Given the description of an element on the screen output the (x, y) to click on. 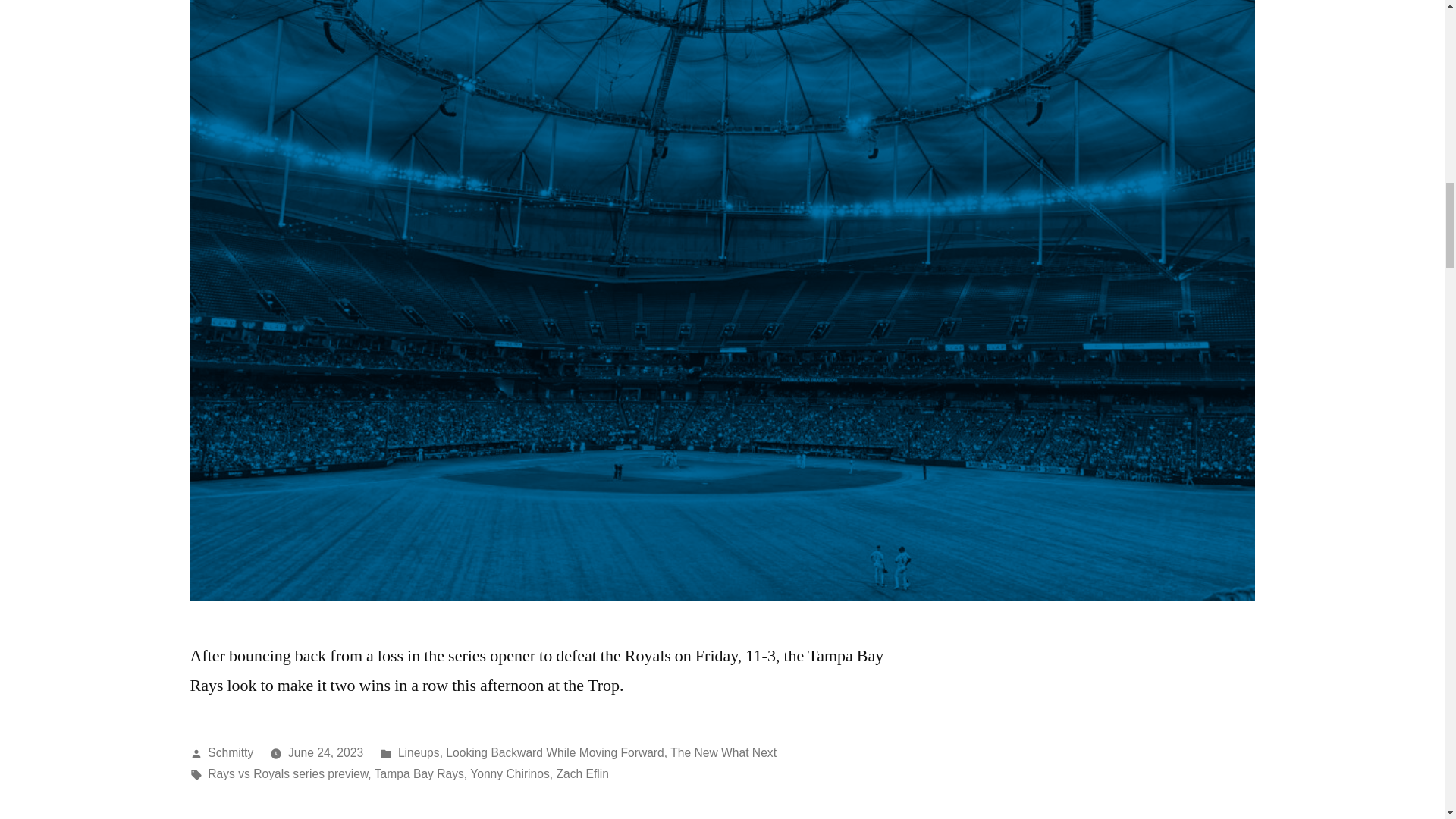
June 24, 2023 (325, 752)
Tampa Bay Rays (419, 773)
Zach Eflin (582, 773)
Yonny Chirinos (510, 773)
Lineups (418, 752)
Schmitty (230, 752)
The New What Next (722, 752)
Rays vs Royals series preview (288, 773)
Looking Backward While Moving Forward (554, 752)
